Given the description of an element on the screen output the (x, y) to click on. 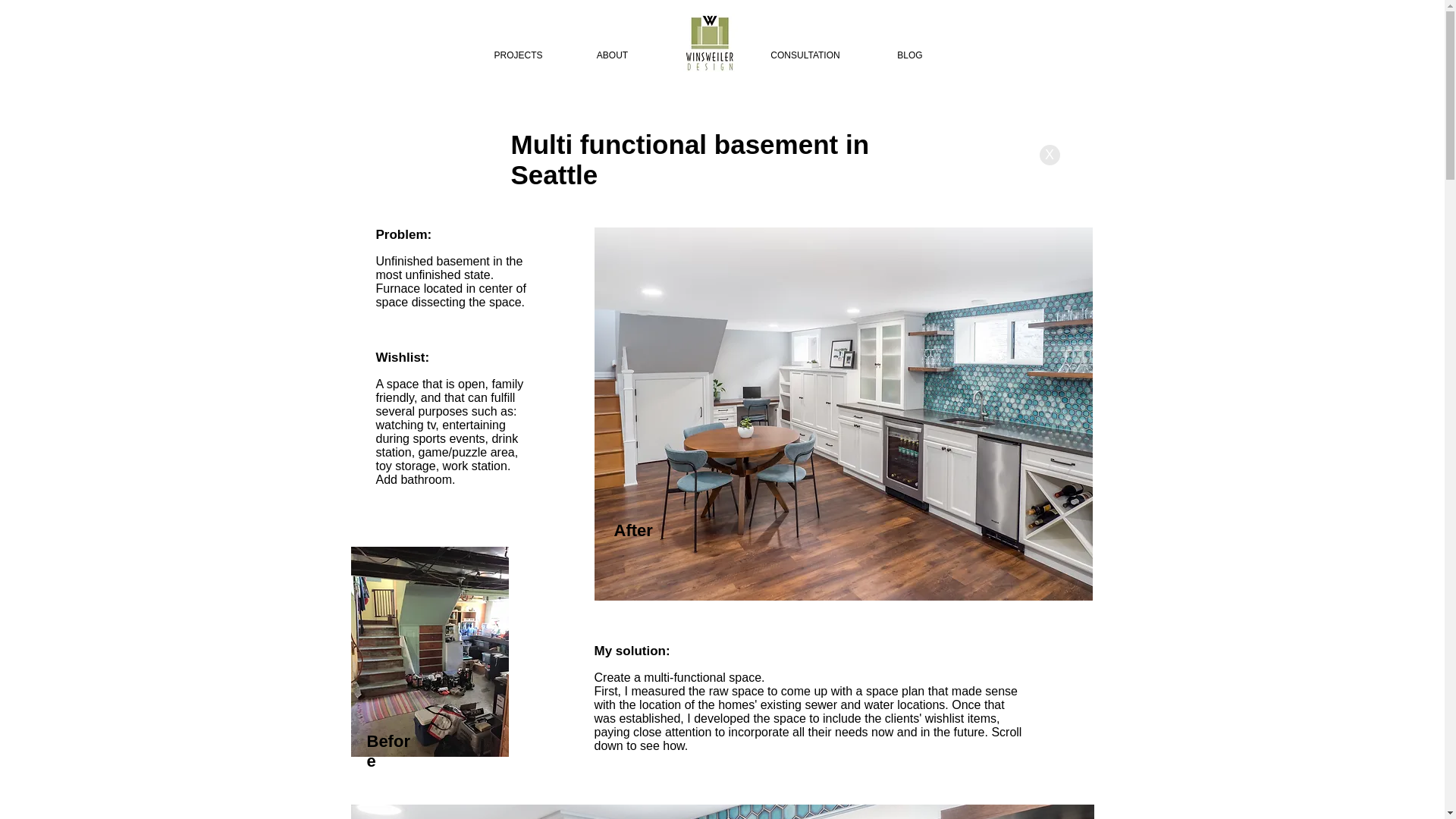
X (1049, 154)
HOME (699, 55)
CONSULTATION (804, 55)
PROJECTS (518, 55)
BLOG (910, 55)
ABOUT (612, 55)
